Given the description of an element on the screen output the (x, y) to click on. 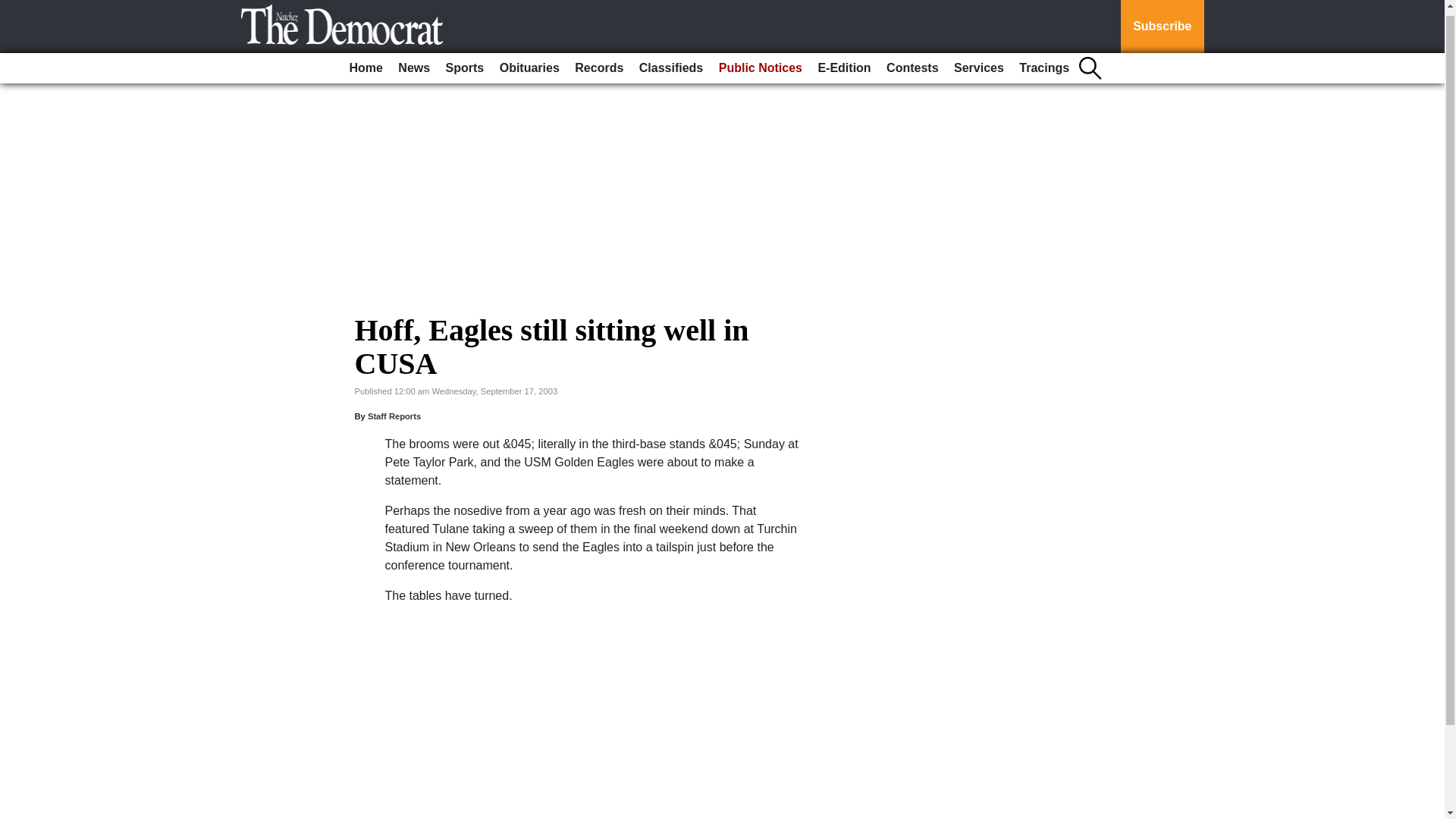
News (413, 62)
Services (978, 62)
Records (598, 62)
E-Edition (843, 62)
Tracings (1044, 62)
Public Notices (760, 62)
Home (365, 62)
Sports (464, 62)
Go (13, 6)
Staff Reports (394, 415)
